Given the description of an element on the screen output the (x, y) to click on. 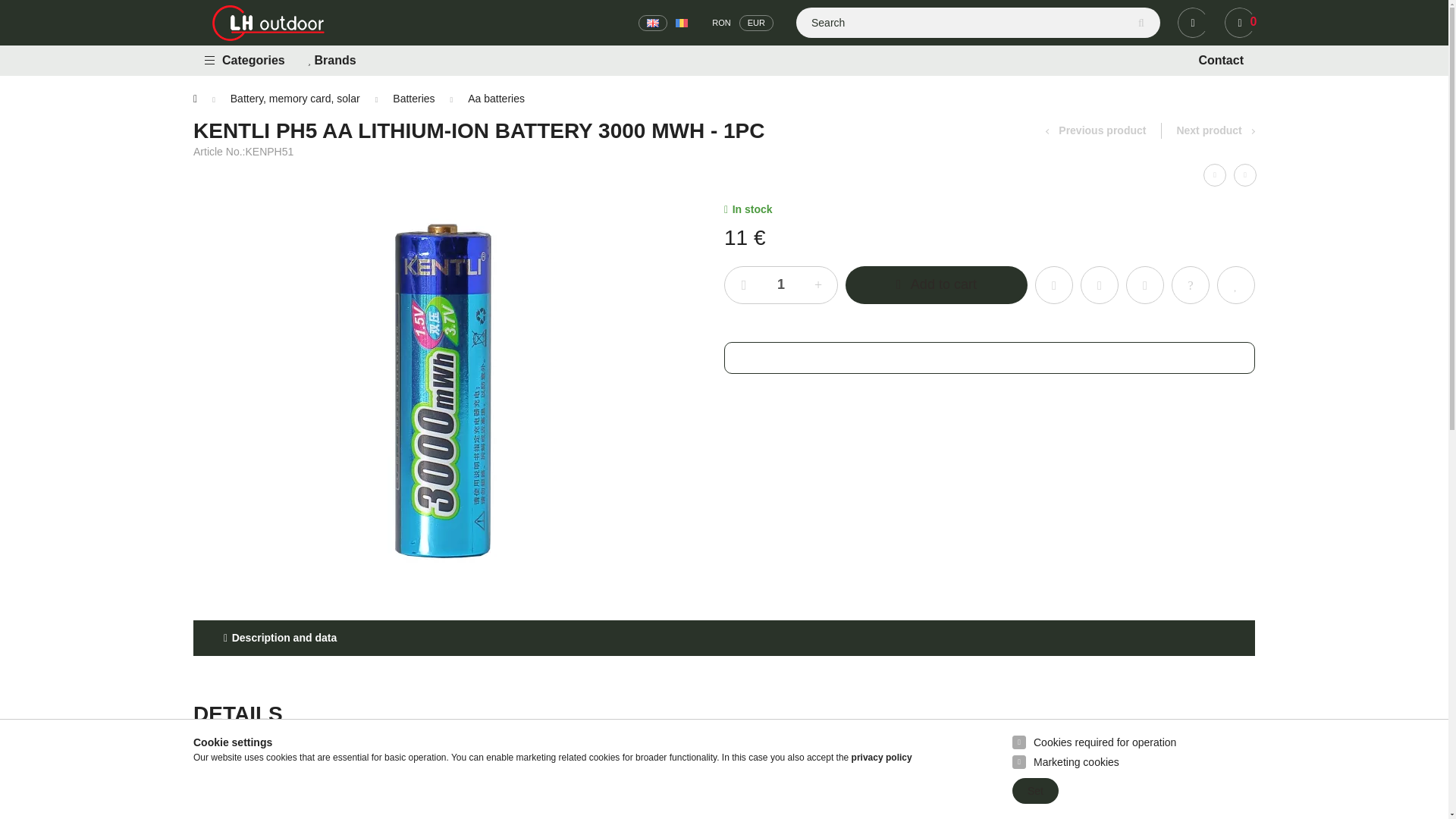
Main category  (194, 98)
Previous product (1095, 130)
English (652, 22)
Brands  (334, 60)
Battery, memory card, solar (294, 98)
Enter a longer search term! (978, 22)
Next product (1215, 130)
Categories (245, 60)
Contact (724, 130)
Description and data (1220, 60)
1 (280, 637)
Kentli PH5 AA Lithium-ion battery 3000 mWh - 1pc (780, 284)
English (1239, 22)
